Given the description of an element on the screen output the (x, y) to click on. 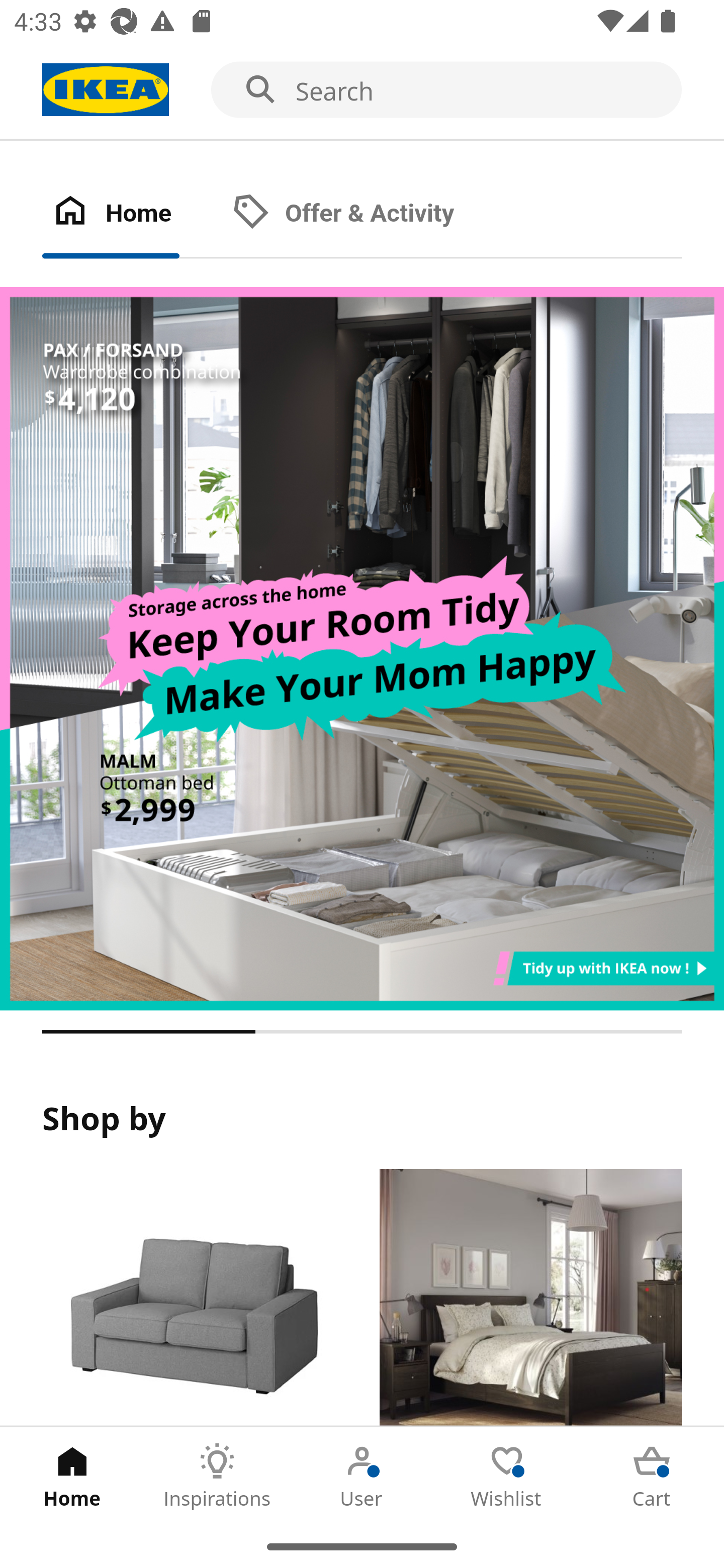
Search (361, 90)
Home
Tab 1 of 2 (131, 213)
Offer & Activity
Tab 2 of 2 (363, 213)
Products (192, 1297)
Rooms (530, 1297)
Home
Tab 1 of 5 (72, 1476)
Inspirations
Tab 2 of 5 (216, 1476)
User
Tab 3 of 5 (361, 1476)
Wishlist
Tab 4 of 5 (506, 1476)
Cart
Tab 5 of 5 (651, 1476)
